Given the description of an element on the screen output the (x, y) to click on. 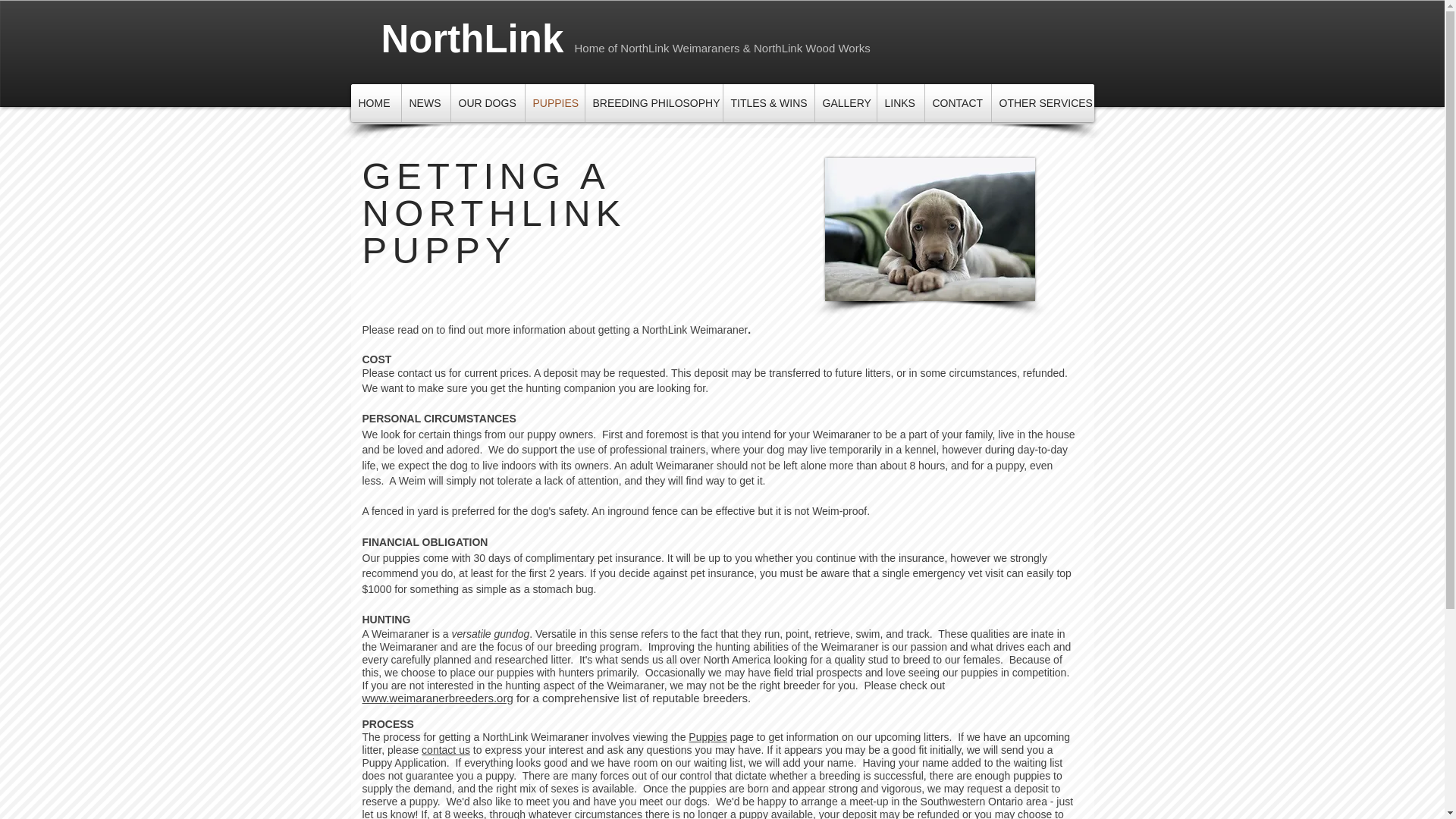
www.weimaranerbreeders.org (437, 697)
PUPPIES (553, 102)
OTHER SERVICES (1042, 102)
contact us (446, 749)
BREEDING PHILOSOPHY (653, 102)
GALLERY (844, 102)
Puppies (707, 736)
NEWS (425, 102)
OUR DOGS (486, 102)
HOME (375, 102)
CONTACT (957, 102)
LINKS (899, 102)
